Given the description of an element on the screen output the (x, y) to click on. 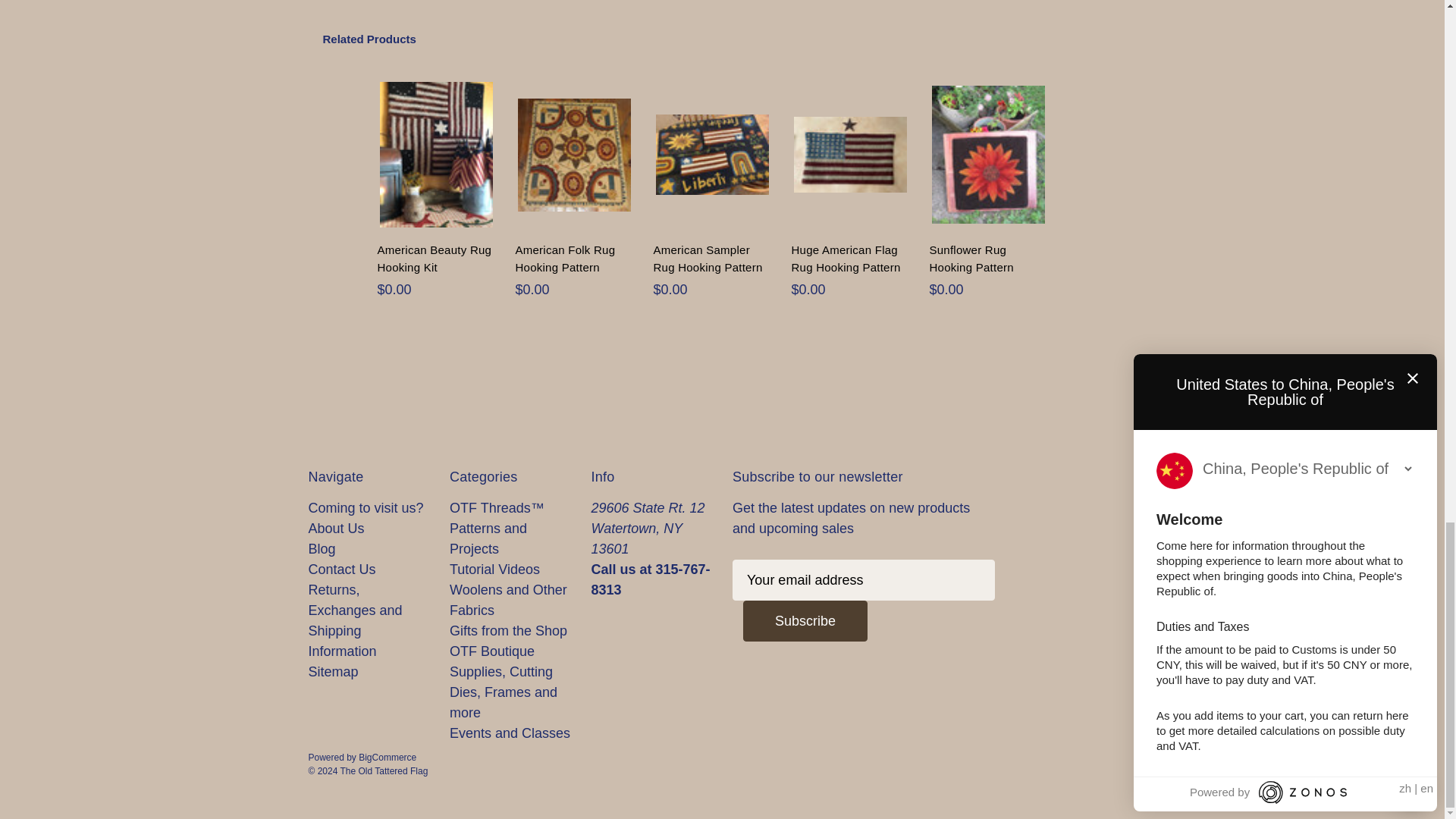
Subscribe (804, 620)
American Folk Rug Hooking Pattern (573, 154)
American Sampler Rug Hooking Pattern (711, 154)
